Given the description of an element on the screen output the (x, y) to click on. 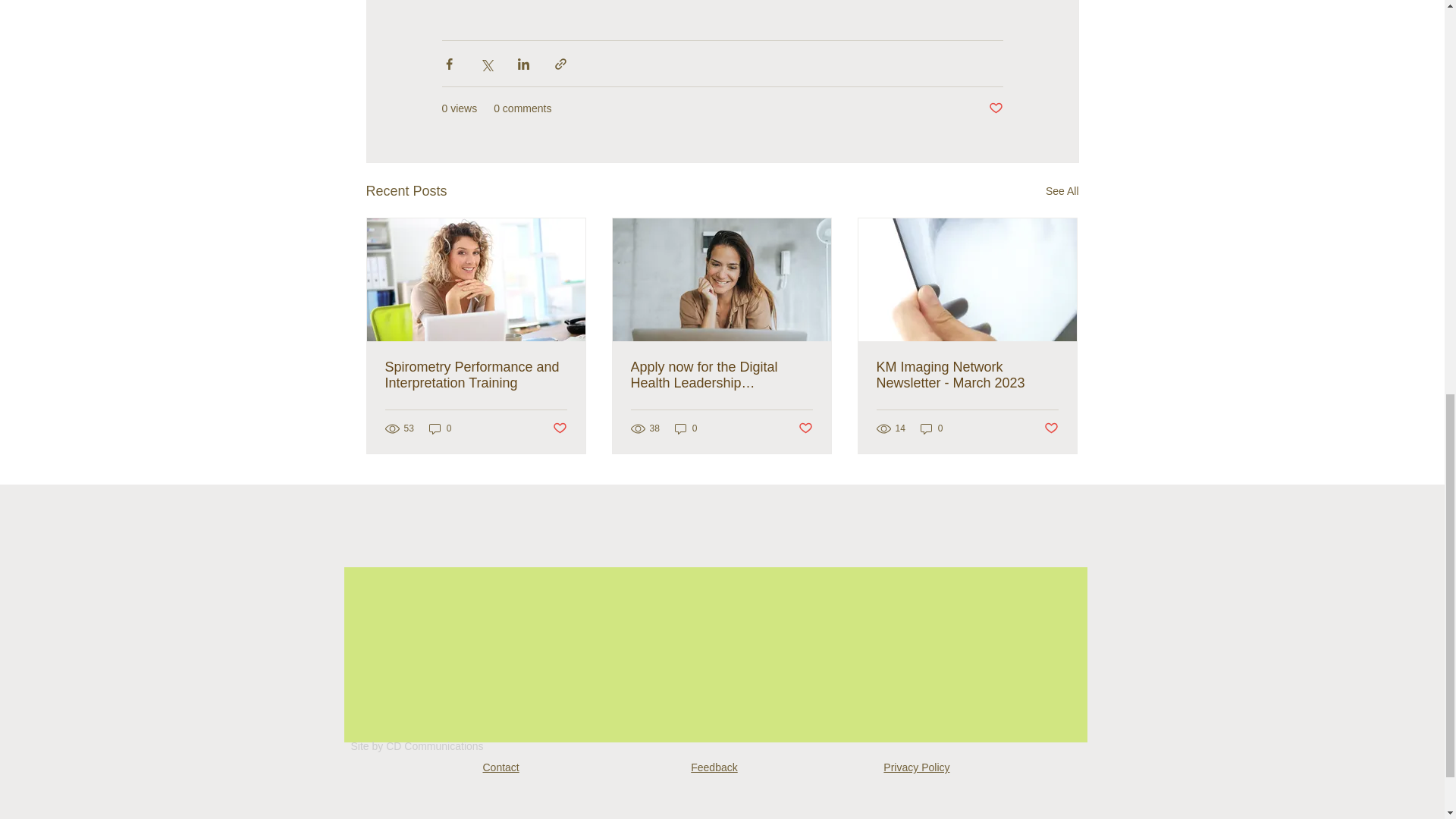
KM Imaging Network Newsletter - March 2023 (967, 375)
0 (931, 428)
0 (440, 428)
Post not marked as liked (804, 428)
Post not marked as liked (558, 428)
See All (1061, 191)
Post not marked as liked (1050, 428)
0 (685, 428)
Spirometry Performance and Interpretation Training (476, 375)
Apply now for the Digital Health Leadership Programme (721, 375)
